Given the description of an element on the screen output the (x, y) to click on. 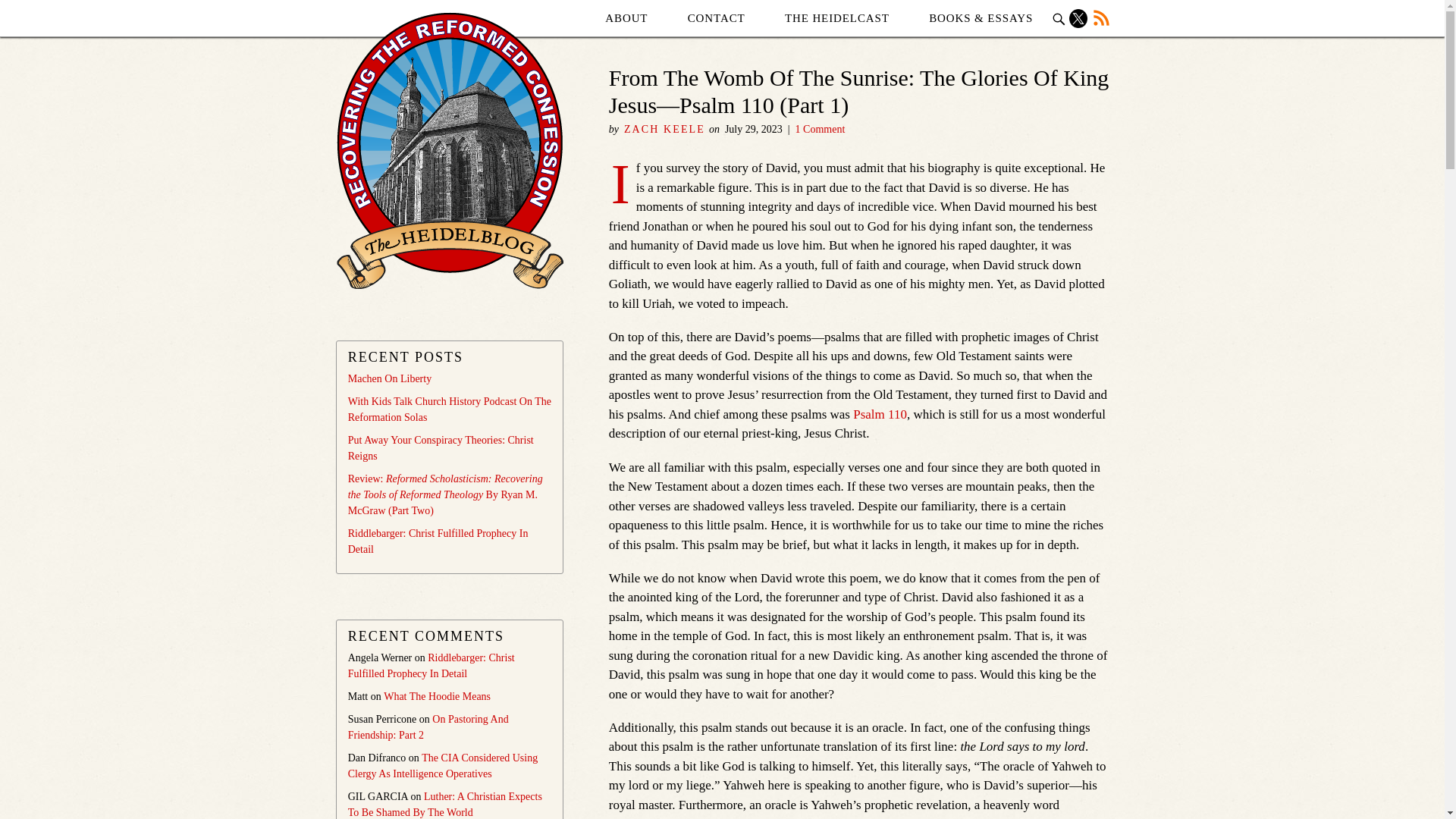
The Heidelcast (837, 18)
THE HEIDELCAST (837, 18)
ABOUT (625, 18)
ZACH KEELE (664, 129)
Contact (715, 18)
The Heidelblog (449, 150)
About (625, 18)
CONTACT (715, 18)
1 Comment (819, 129)
Psalm 110 (880, 414)
